Given the description of an element on the screen output the (x, y) to click on. 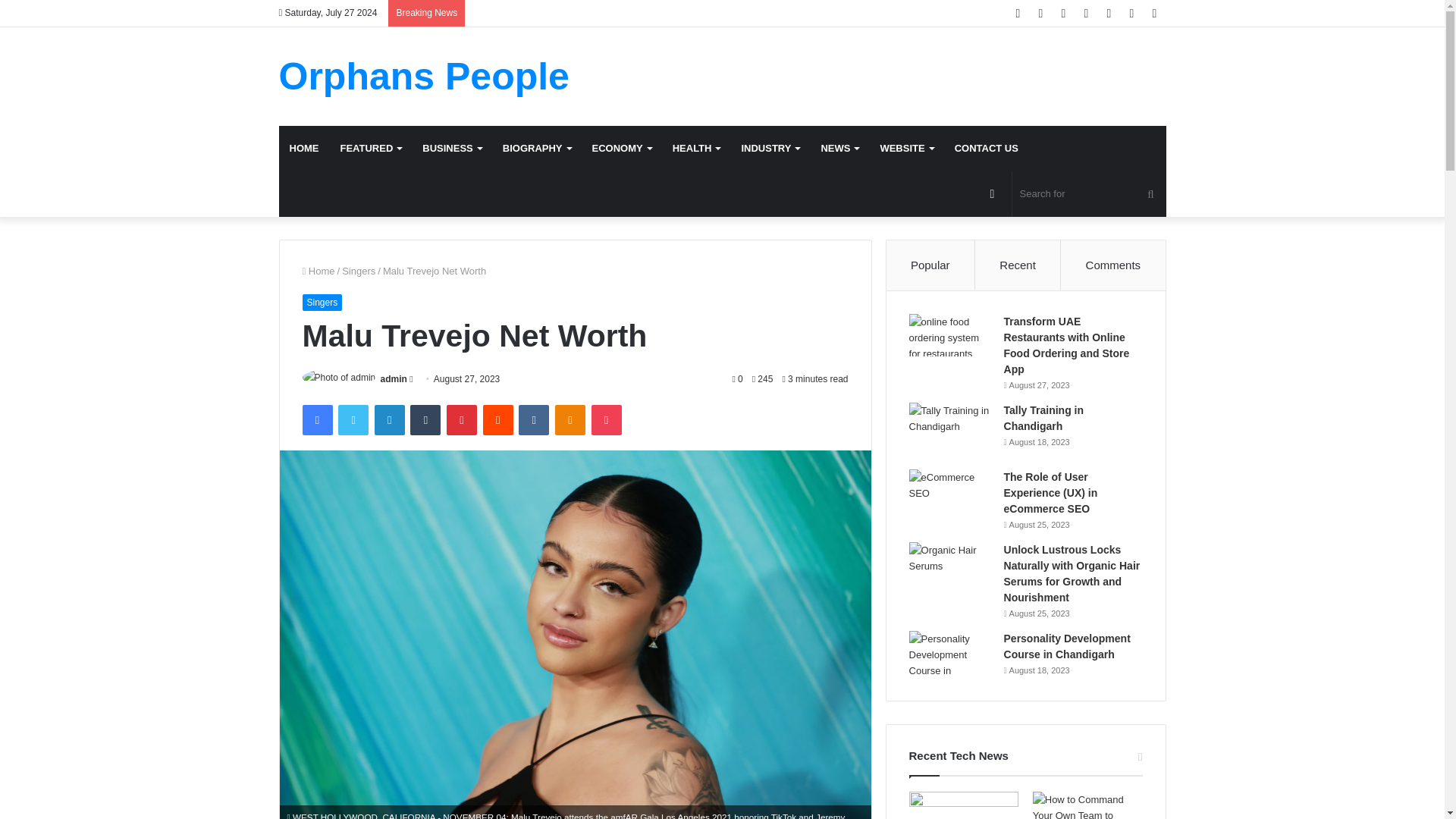
VKontakte (533, 419)
FEATURED (370, 148)
BIOGRAPHY (536, 148)
LinkedIn (389, 419)
Pinterest (461, 419)
ECONOMY (621, 148)
Orphans People (424, 76)
Orphans People (424, 76)
Reddit (498, 419)
admin (393, 378)
HOME (304, 148)
BUSINESS (452, 148)
Search for (1088, 194)
Facebook (316, 419)
Twitter (352, 419)
